Given the description of an element on the screen output the (x, y) to click on. 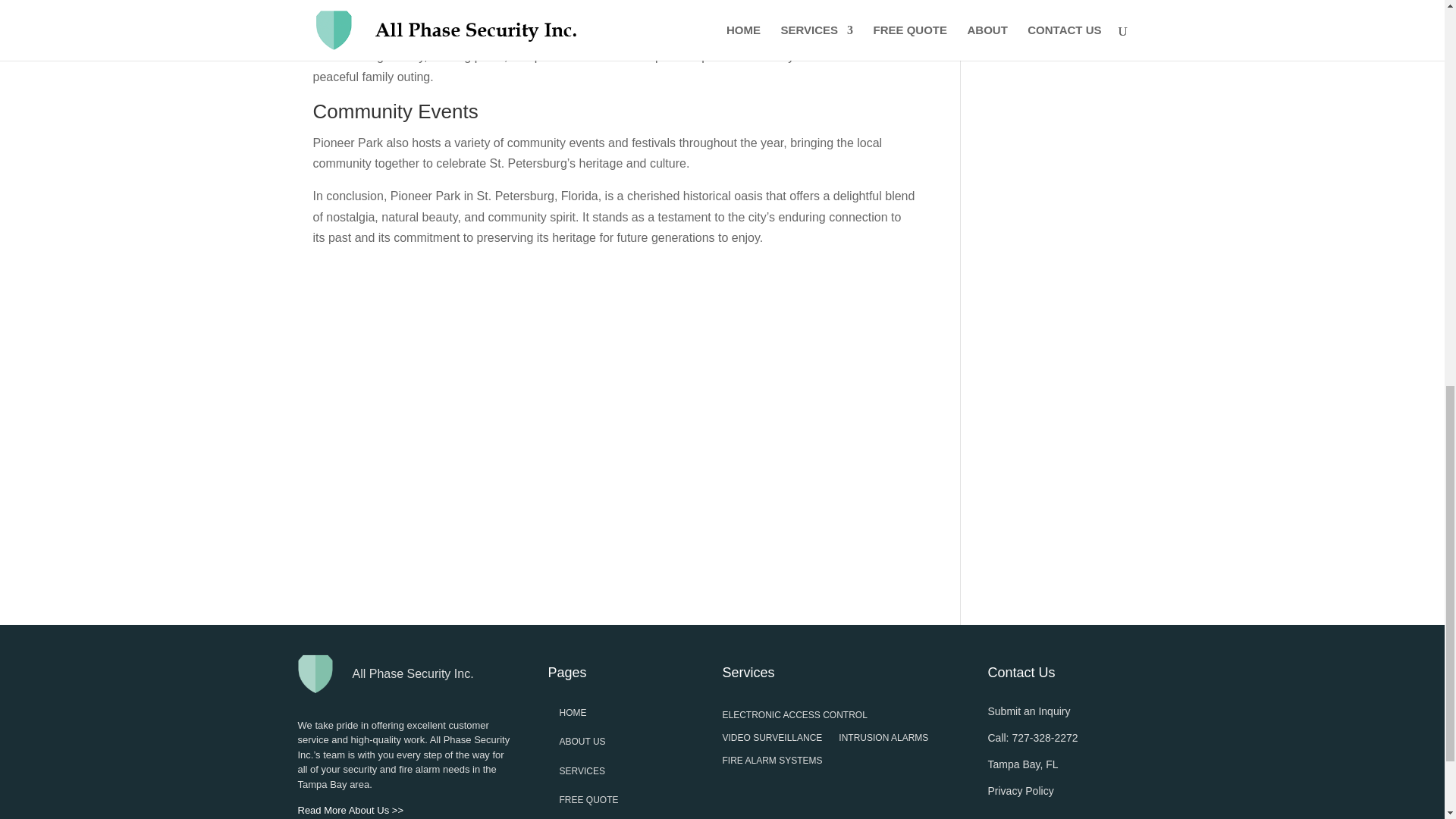
HOME (572, 712)
FIRE ALARM SYSTEMS (772, 763)
FREE QUOTE (588, 799)
INTRUSION ALARMS (883, 740)
Submit an Inquiry (1028, 711)
SERVICES (582, 770)
ABOUT US (582, 741)
VIDEO SURVEILLANCE (772, 740)
Privacy Policy (1019, 790)
ELECTRONIC ACCESS CONTROL (794, 718)
